Given the description of an element on the screen output the (x, y) to click on. 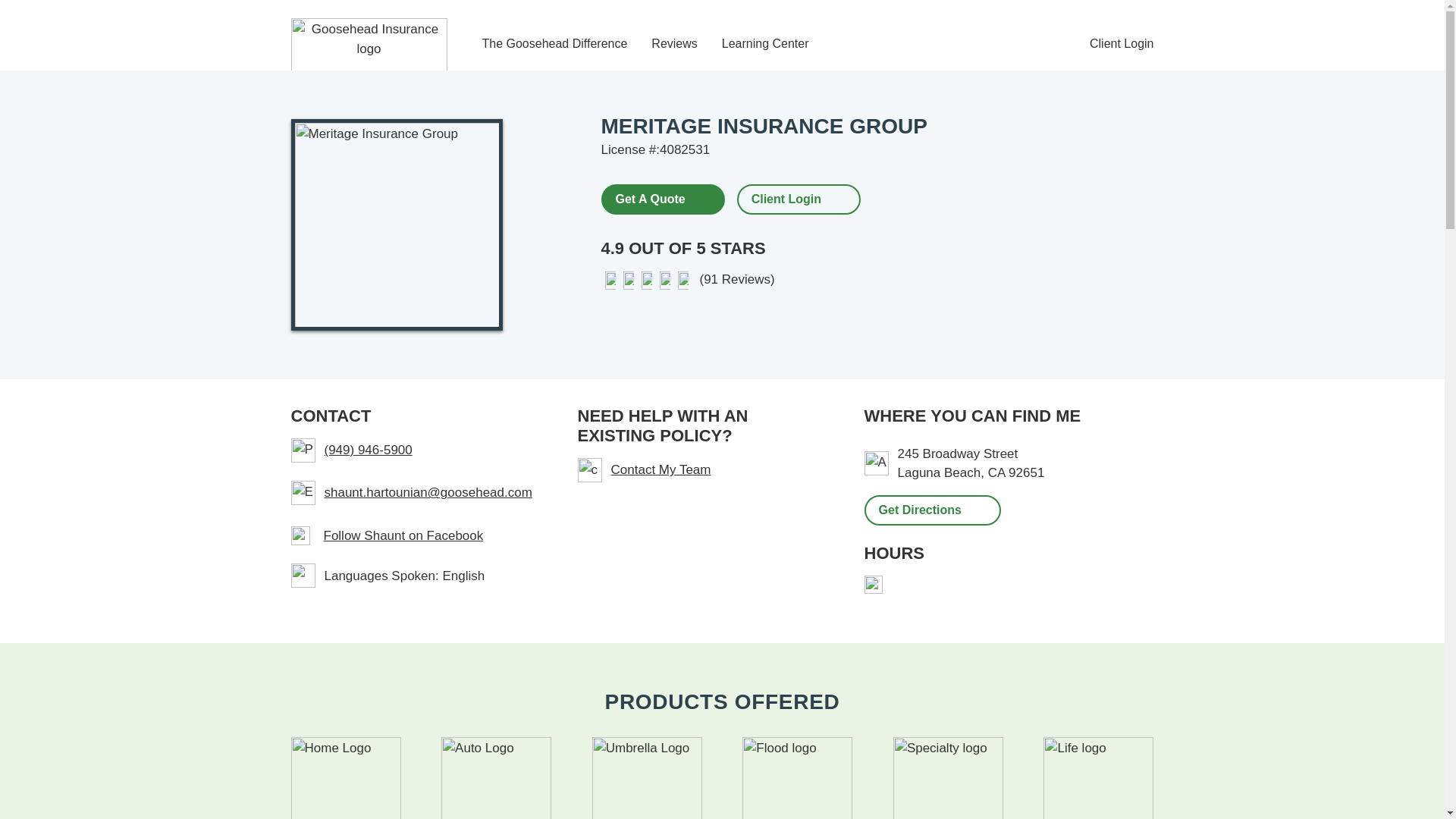
Get A Quote (661, 198)
SPECIALTY (948, 778)
UMBRELLA (646, 778)
Get Directions (932, 510)
Learning Center (765, 44)
Client Login (1121, 44)
AUTO (496, 778)
FLOOD (796, 778)
Contact My Team (703, 469)
Client Login (786, 198)
California (997, 472)
LIFE (1098, 778)
HOME (346, 778)
Reviews (673, 44)
